Given the description of an element on the screen output the (x, y) to click on. 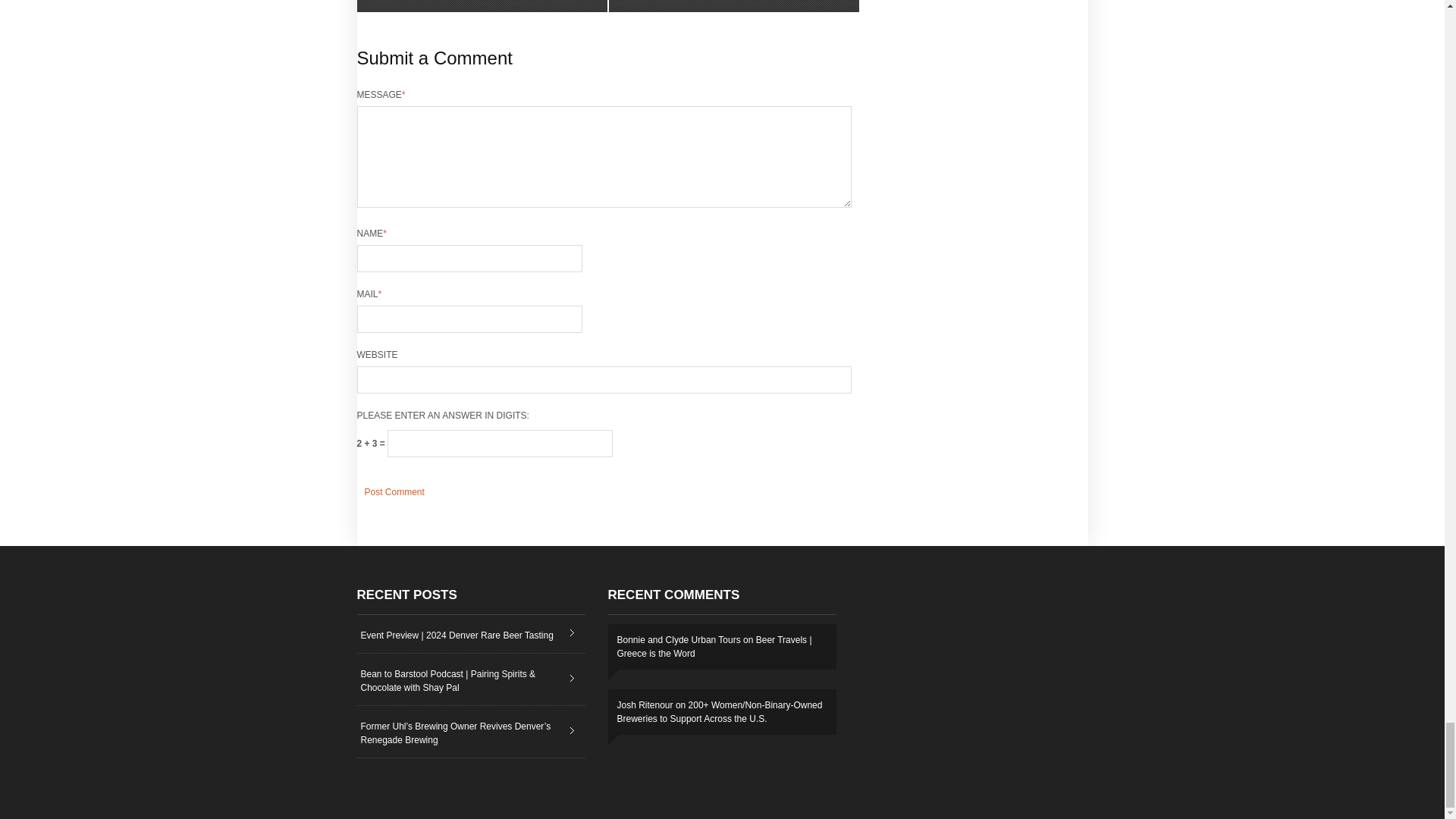
Post Comment (393, 491)
